Given the description of an element on the screen output the (x, y) to click on. 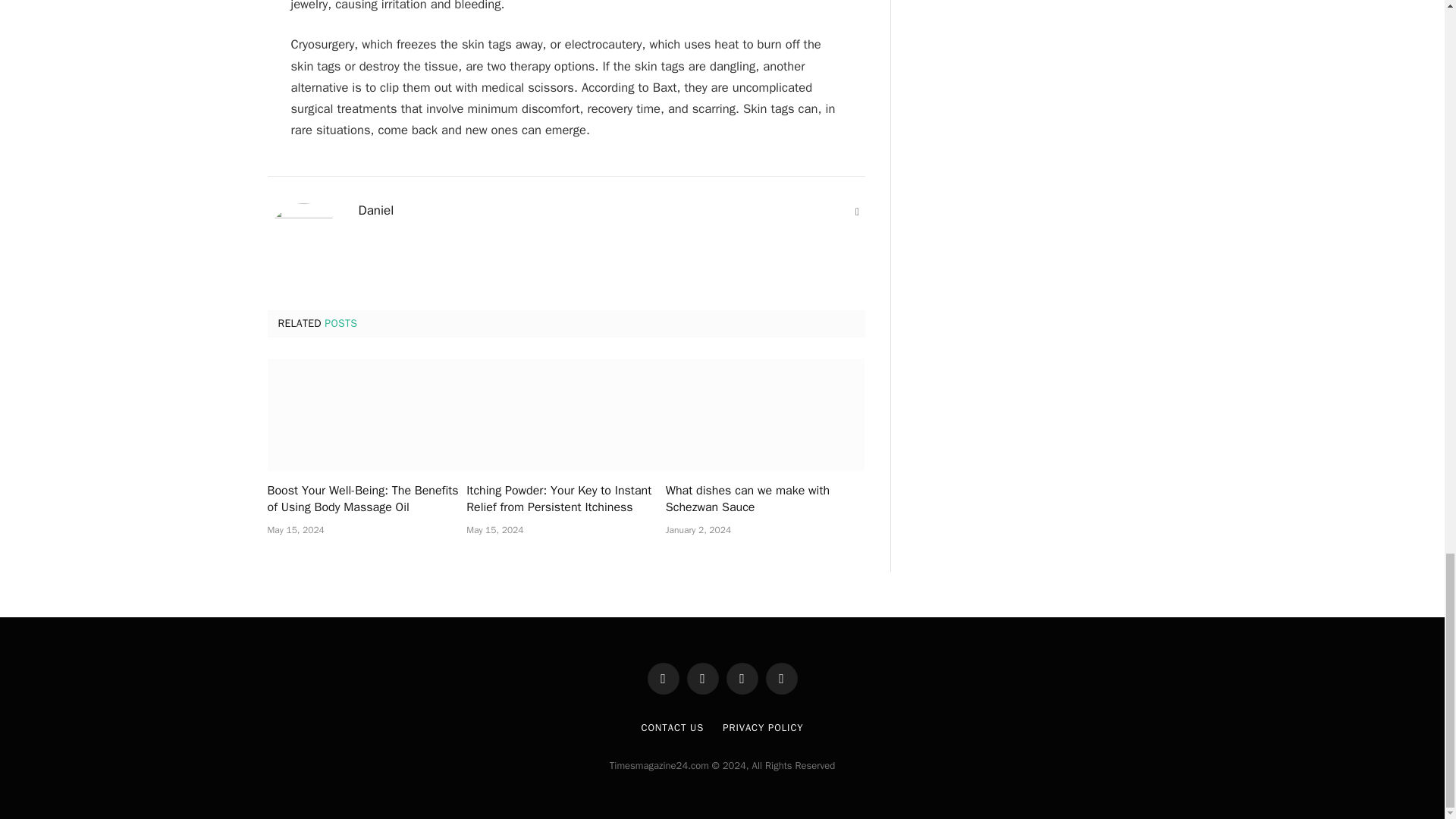
Website (856, 212)
Website (856, 212)
Posts by Daniel (375, 210)
What dishes can we make with Schezwan Sauce (764, 499)
What dishes can we make with Schezwan Sauce (764, 414)
Daniel (375, 210)
